Given the description of an element on the screen output the (x, y) to click on. 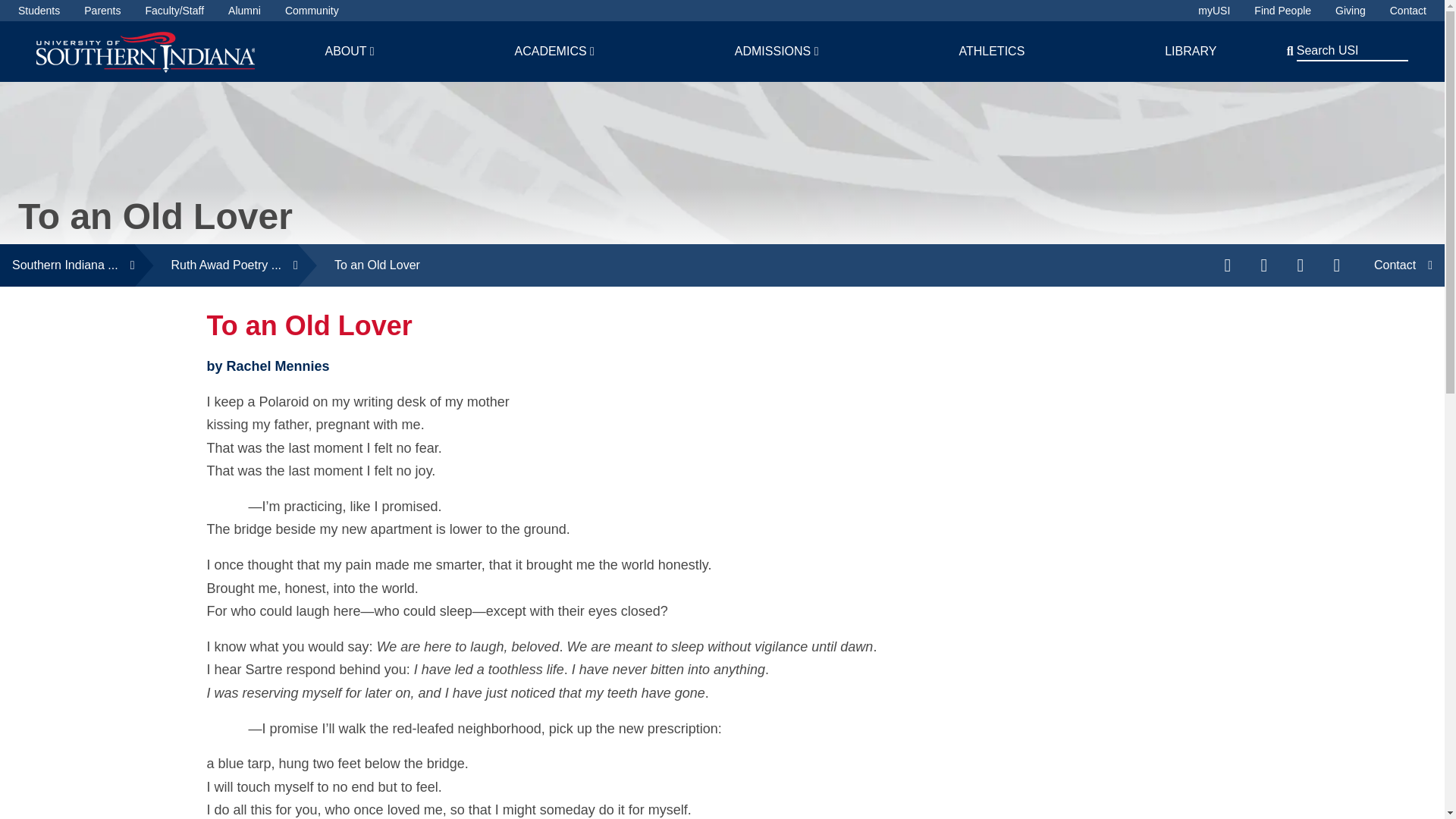
University of Southern Indiana (145, 50)
Find People (1282, 10)
Alumni (244, 10)
myUSI (1214, 10)
Giving (1350, 10)
Parents (102, 10)
Students (38, 10)
Community (312, 10)
Ruth Awad Poetry Picks (216, 265)
